Given the description of an element on the screen output the (x, y) to click on. 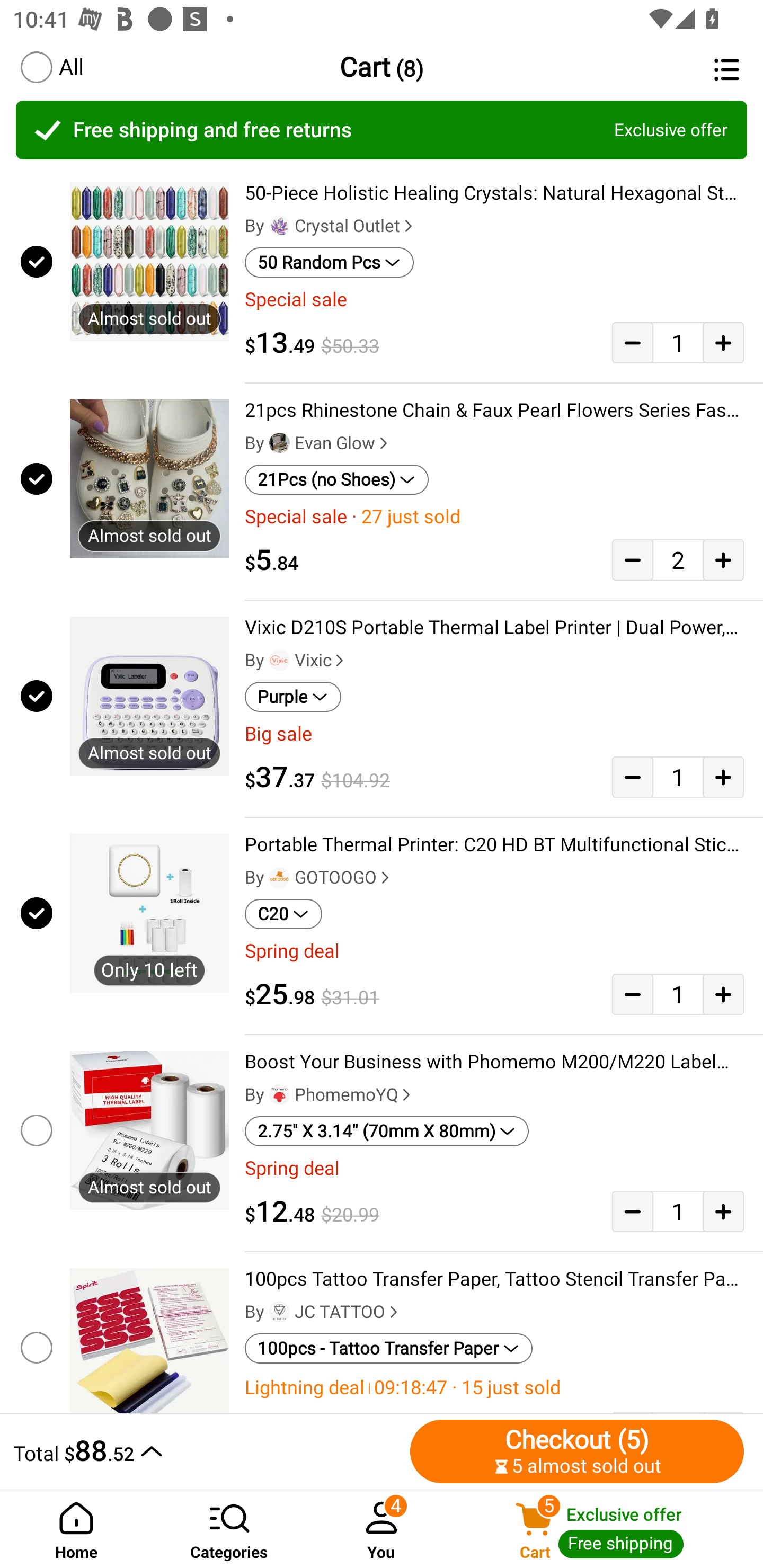
Select all tick button All (51, 67)
Free shipping and free returns Exclusive offer (381, 129)
Product checkbox checked (35, 260)
By Crystal Outlet (330, 226)
50 Random Pcs (328, 262)
Decrease quantity button (632, 342)
1 (677, 342)
Add quantity button (722, 342)
Product checkbox checked (35, 478)
By Evan Glow (317, 442)
21Pcs (no Shoes) (336, 479)
Decrease quantity button (632, 559)
2 (677, 559)
Add quantity button (722, 559)
Product checkbox checked (35, 696)
By Vixic (295, 660)
Purple (292, 696)
Decrease quantity button (632, 776)
1 (677, 776)
Add quantity button (722, 776)
Product checkbox checked (35, 913)
By GOTOOGO (318, 877)
C20 (282, 913)
Spring deal (493, 951)
Decrease quantity button (632, 993)
1 (677, 993)
Add quantity button (722, 993)
Product checkbox uncheck (35, 1130)
By PhomemoYQ (329, 1095)
2.75'' X 3.14'' (70mm X 80mm) (386, 1131)
Spring deal (493, 1168)
Decrease quantity button (632, 1211)
1 (677, 1211)
Add quantity button (722, 1211)
Product checkbox uncheck (35, 1344)
By JC TATTOO (322, 1311)
100pcs - Tattoo Transfer Paper (388, 1348)
Lightning deal | ￼ · 15 just sold (493, 1387)
Total $88.52 (206, 1450)
Checkout Checkout (5) ￼5 almost sold out (576, 1451)
Home (76, 1528)
Categories (228, 1528)
You 4 You (381, 1528)
Cart 5 Cart Exclusive offer (610, 1528)
